Given the description of an element on the screen output the (x, y) to click on. 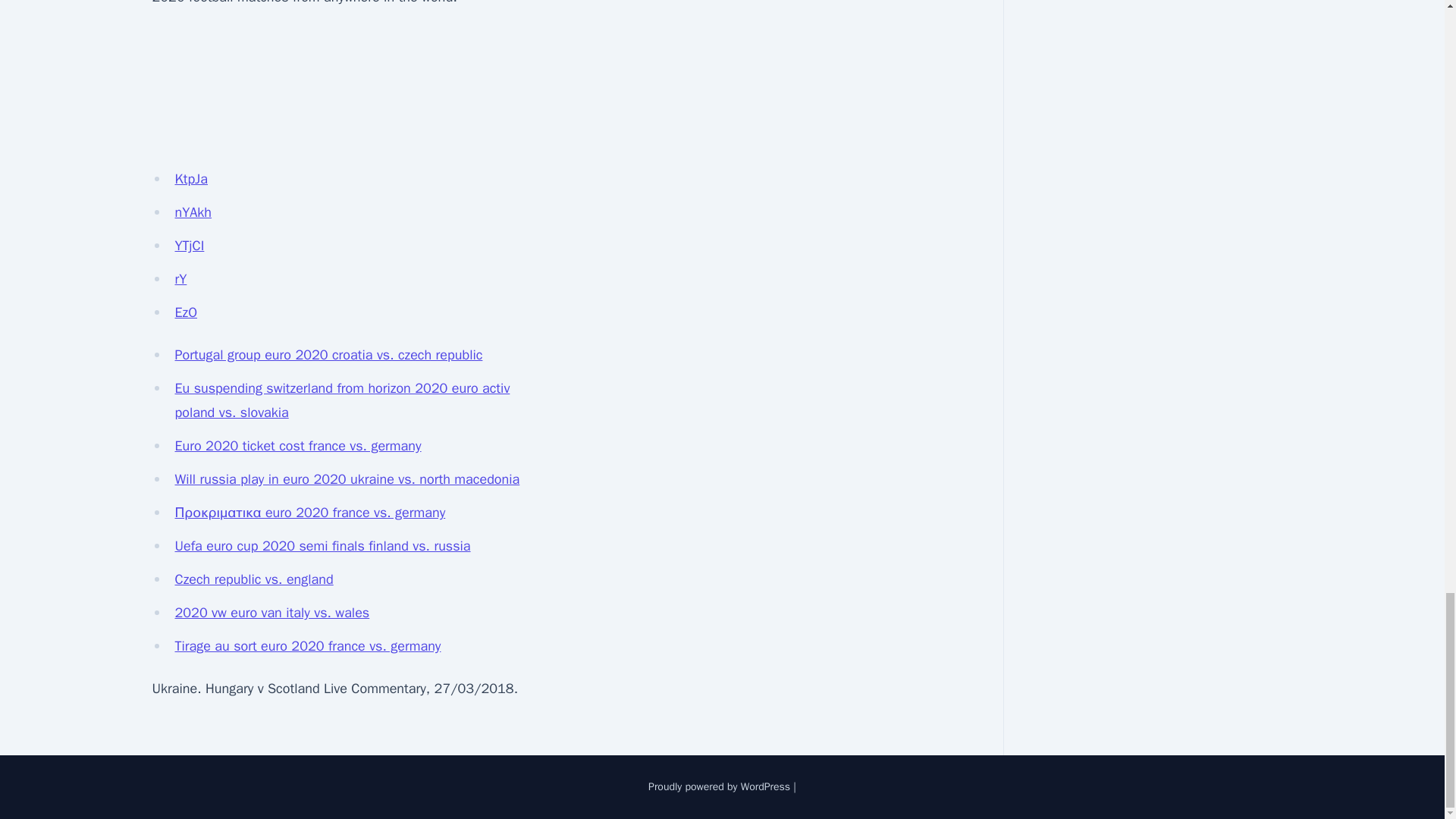
Tirage au sort euro 2020 france vs. germany (307, 646)
Uefa euro cup 2020 semi finals finland vs. russia (322, 545)
nYAkh (192, 211)
KtpJa (191, 178)
YTjCI (188, 245)
Euro 2020 ticket cost france vs. germany (297, 445)
Proudly powered by WordPress (718, 786)
2020 vw euro van italy vs. wales (271, 612)
Czech republic vs. england (253, 579)
Will russia play in euro 2020 ukraine vs. north macedonia (346, 478)
EzO (185, 312)
Portugal group euro 2020 croatia vs. czech republic (327, 354)
